Given the description of an element on the screen output the (x, y) to click on. 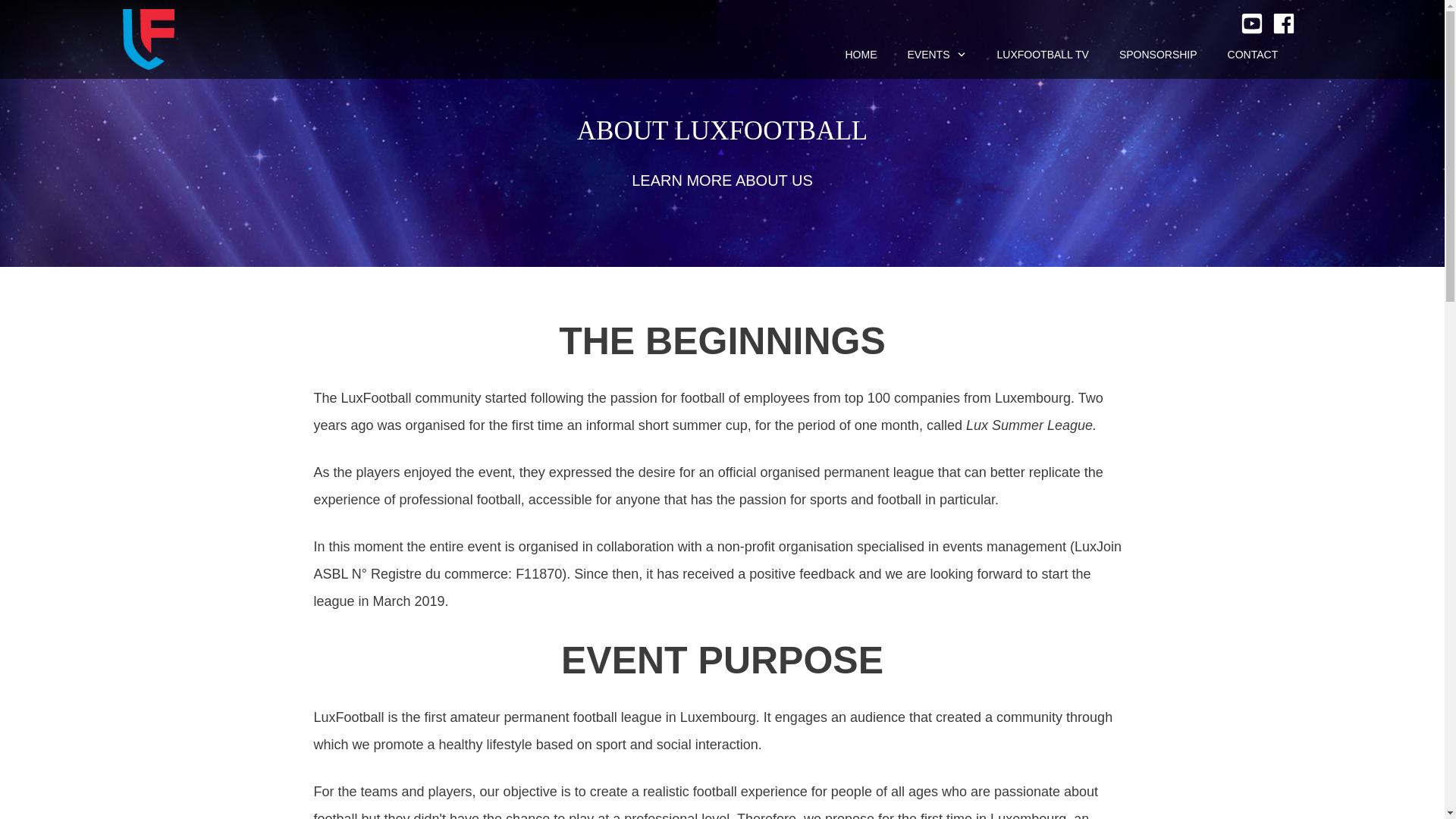
HOME (860, 54)
SPONSORSHIP (1157, 54)
EVENTS (936, 54)
CONTACT (1252, 54)
LUXFOOTBALL TV (1043, 54)
